Given the description of an element on the screen output the (x, y) to click on. 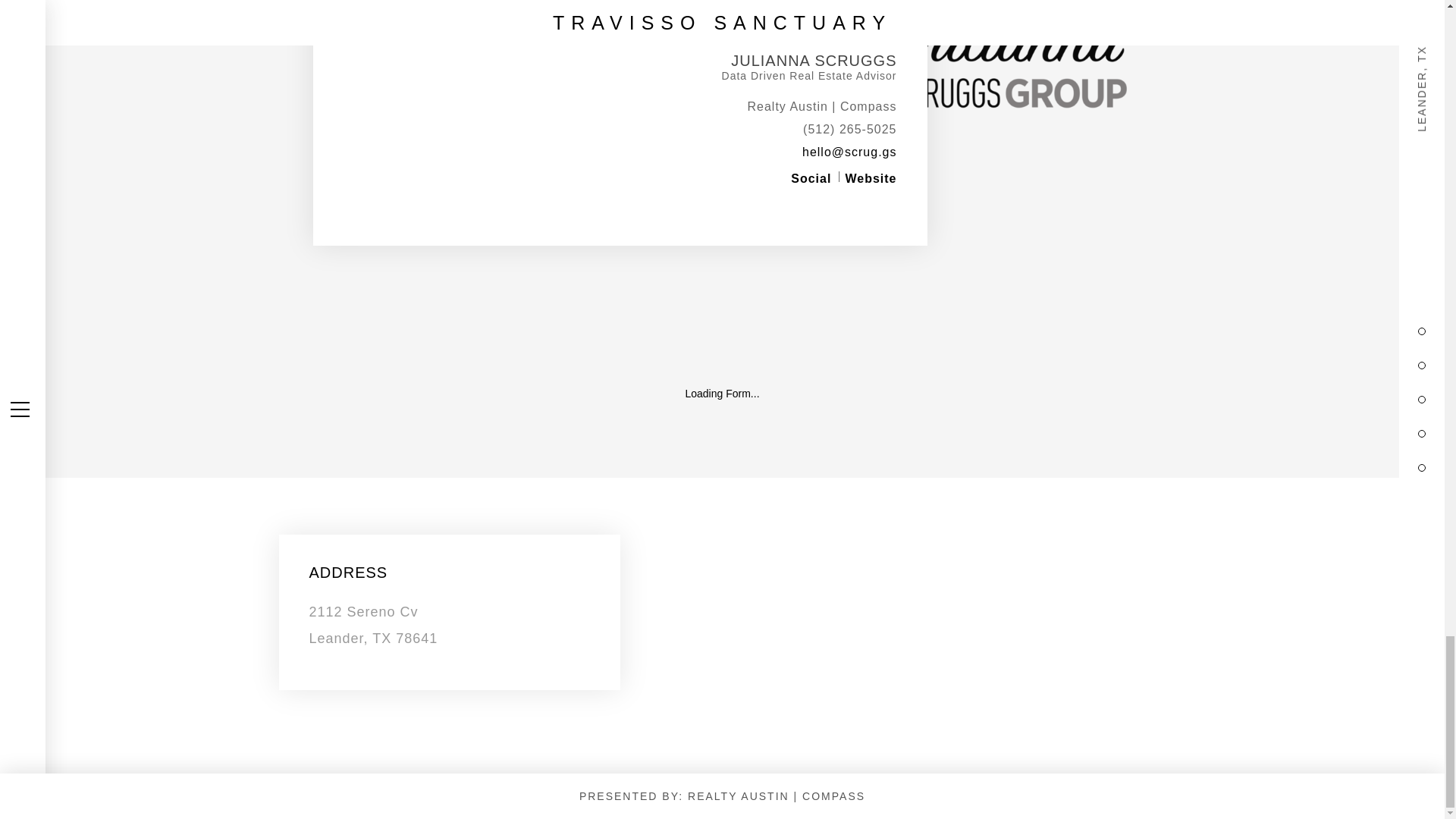
Loading Form... (721, 393)
Website (870, 178)
